Given the description of an element on the screen output the (x, y) to click on. 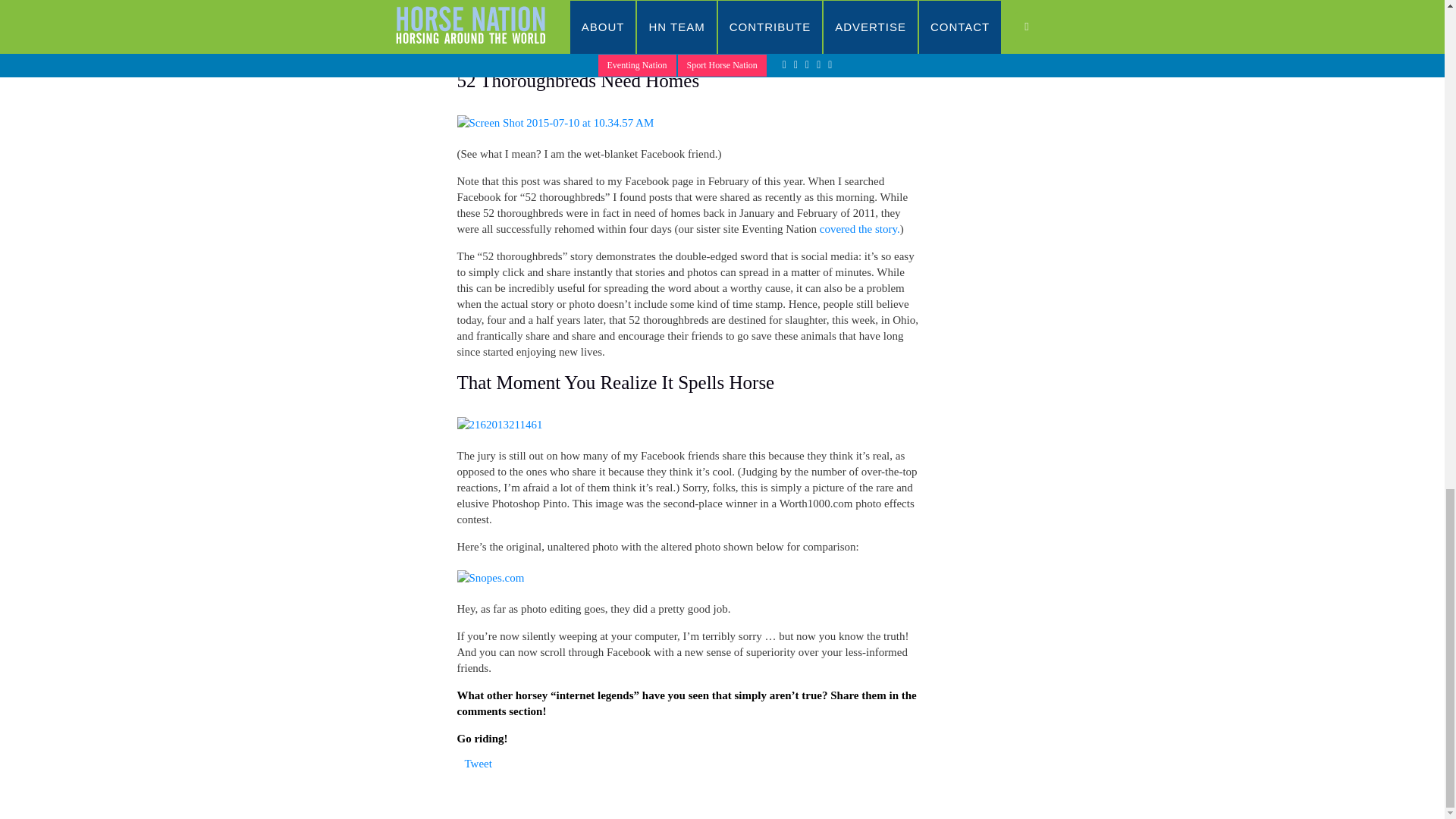
covered the story. (859, 228)
Tweet (478, 763)
